Given the description of an element on the screen output the (x, y) to click on. 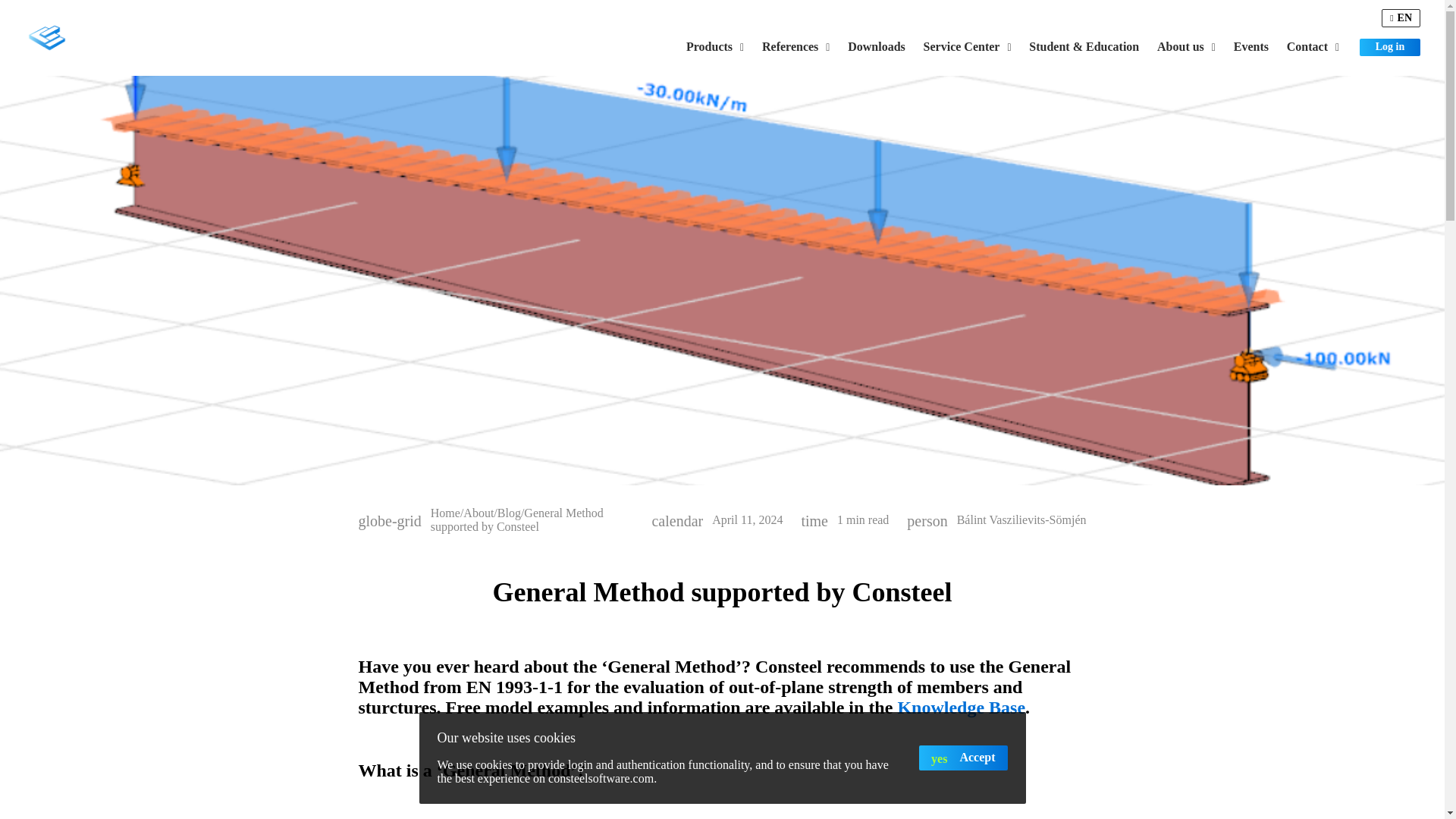
Products (714, 46)
Downloads (876, 46)
Service Center (967, 46)
About us (1186, 46)
Events (1251, 46)
References (795, 46)
Log in (1390, 46)
Contact (1313, 46)
Knowledge Base (960, 707)
